Given the description of an element on the screen output the (x, y) to click on. 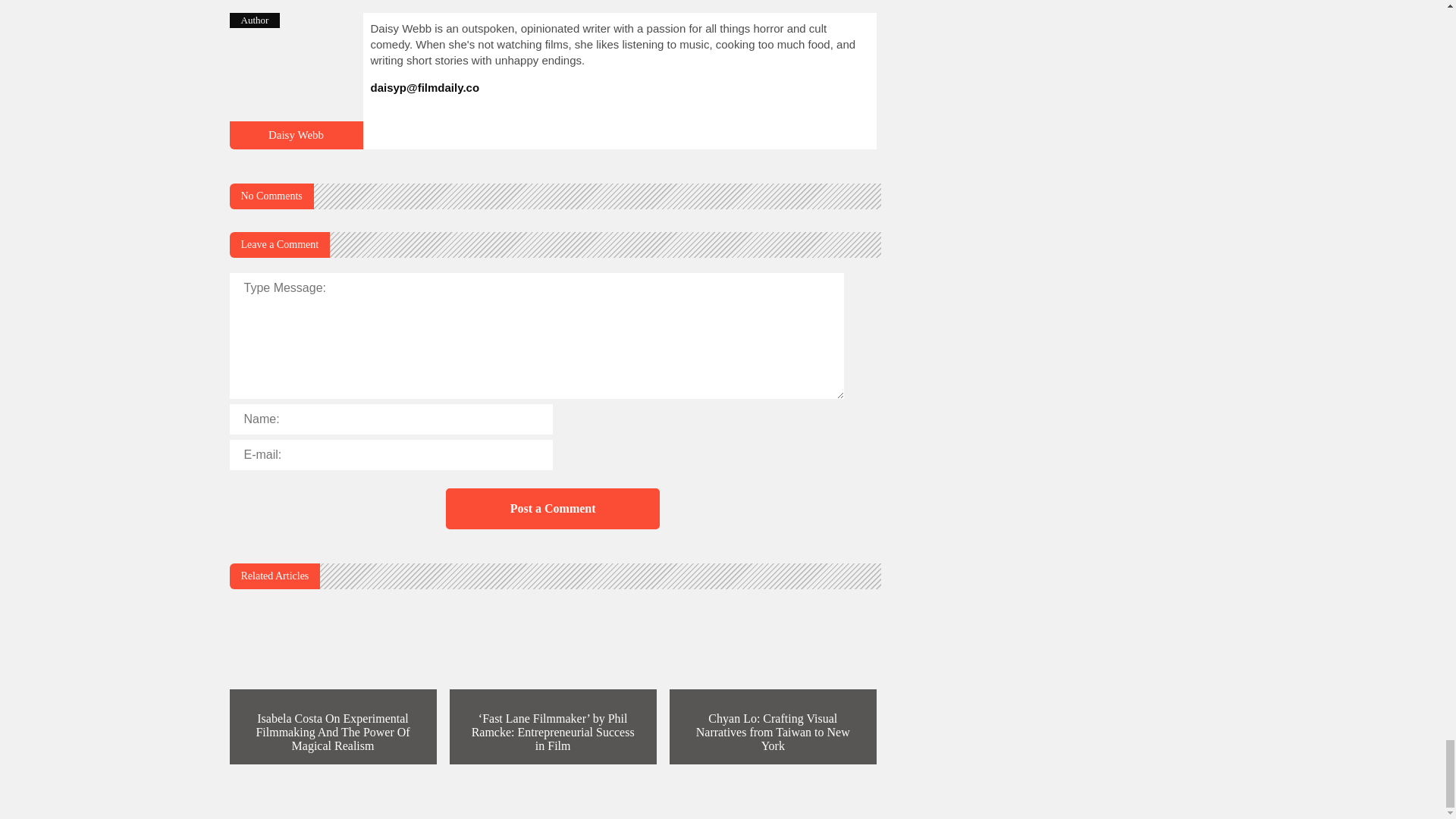
Post a Comment (552, 508)
David Lynch quotes to inspire any aspirational filmmaker (295, 142)
David Lynch quotes to inspire any aspirational filmmaker (295, 134)
